Given the description of an element on the screen output the (x, y) to click on. 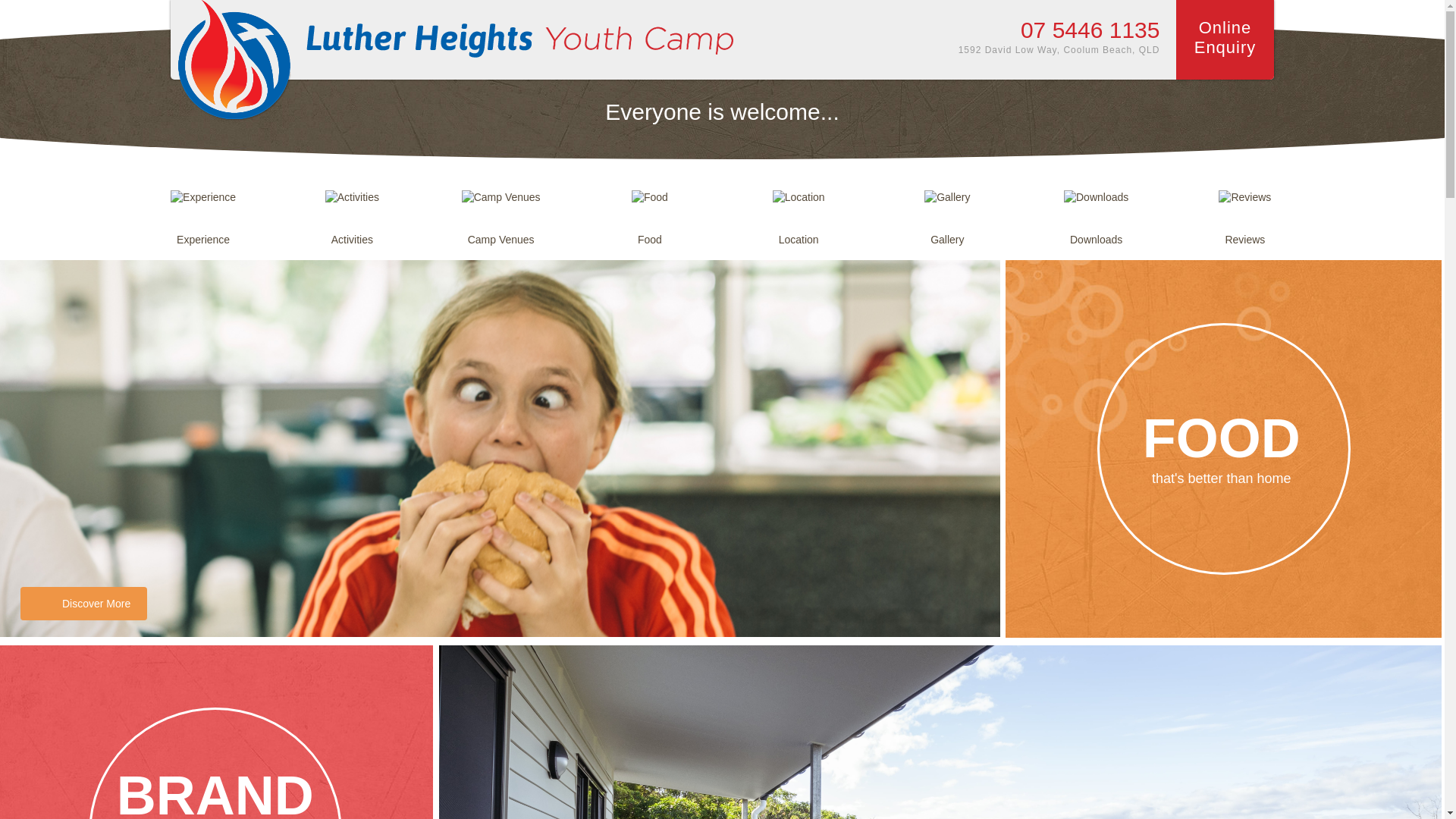
Gallery Element type: text (947, 199)
Online Enquiry Element type: text (1225, 39)
Discover More Element type: text (83, 603)
Camp Venues Element type: text (500, 199)
Downloads Element type: text (1096, 199)
Location Element type: text (798, 199)
07 5446 1135 Element type: text (1090, 29)
Activities Element type: text (352, 199)
Food Element type: text (649, 199)
Reviews Element type: text (1244, 199)
Experience Element type: text (202, 199)
FOOD
that's better than home Element type: text (1223, 448)
